Given the description of an element on the screen output the (x, y) to click on. 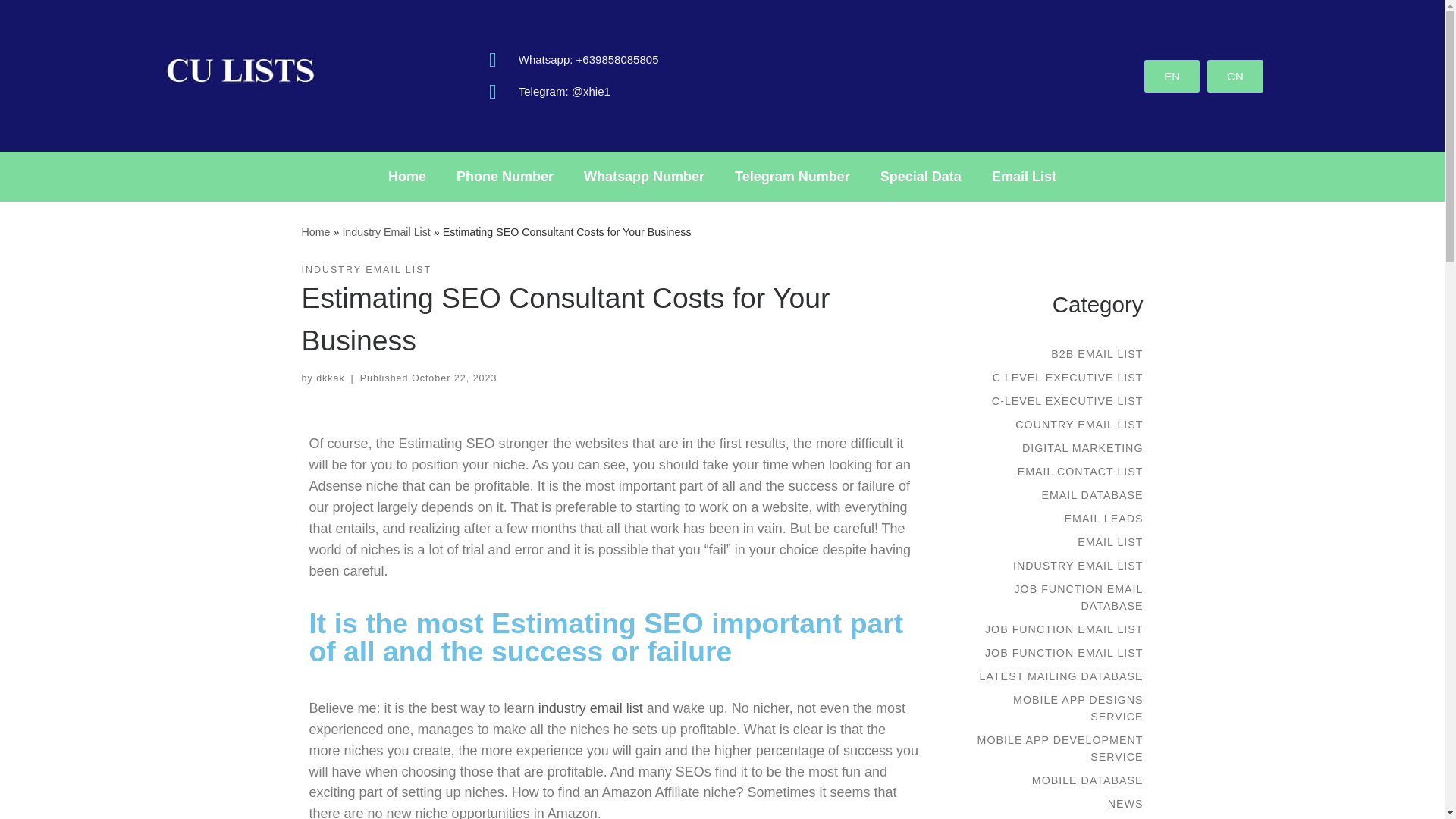
View all posts by dkkak (330, 378)
CU LISTS (315, 232)
Industry Email List (385, 232)
dkkak (330, 378)
Telegram Number (791, 176)
Phone Number (505, 176)
Industry Email List (385, 232)
Home (406, 176)
Whatsapp Number (644, 176)
Email List (1023, 176)
